Given the description of an element on the screen output the (x, y) to click on. 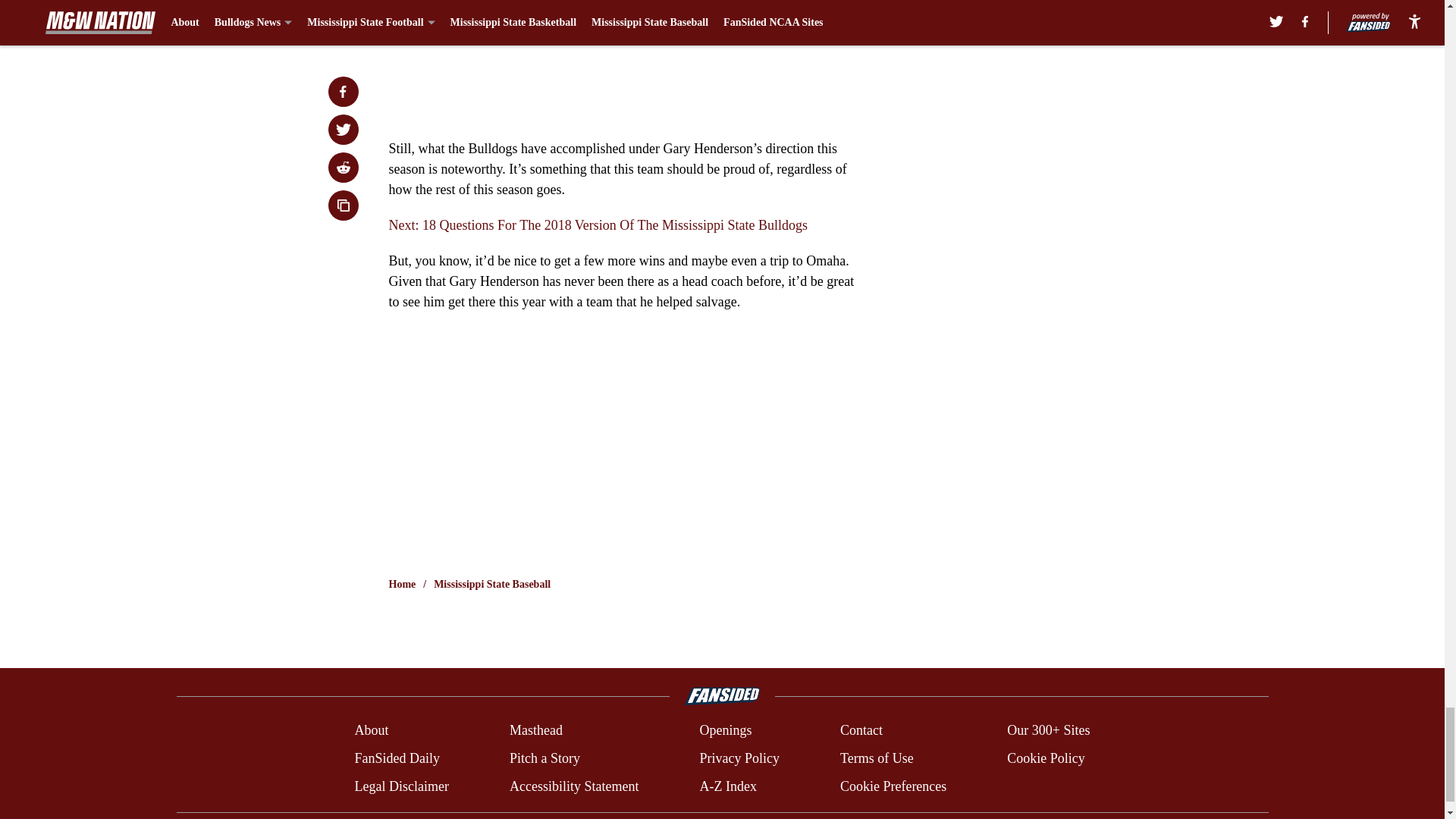
FanSided Daily (396, 758)
Pitch a Story (544, 758)
Openings (724, 730)
Contact (861, 730)
Home (401, 584)
Masthead (535, 730)
About (370, 730)
Mississippi State Baseball (491, 584)
